Given the description of an element on the screen output the (x, y) to click on. 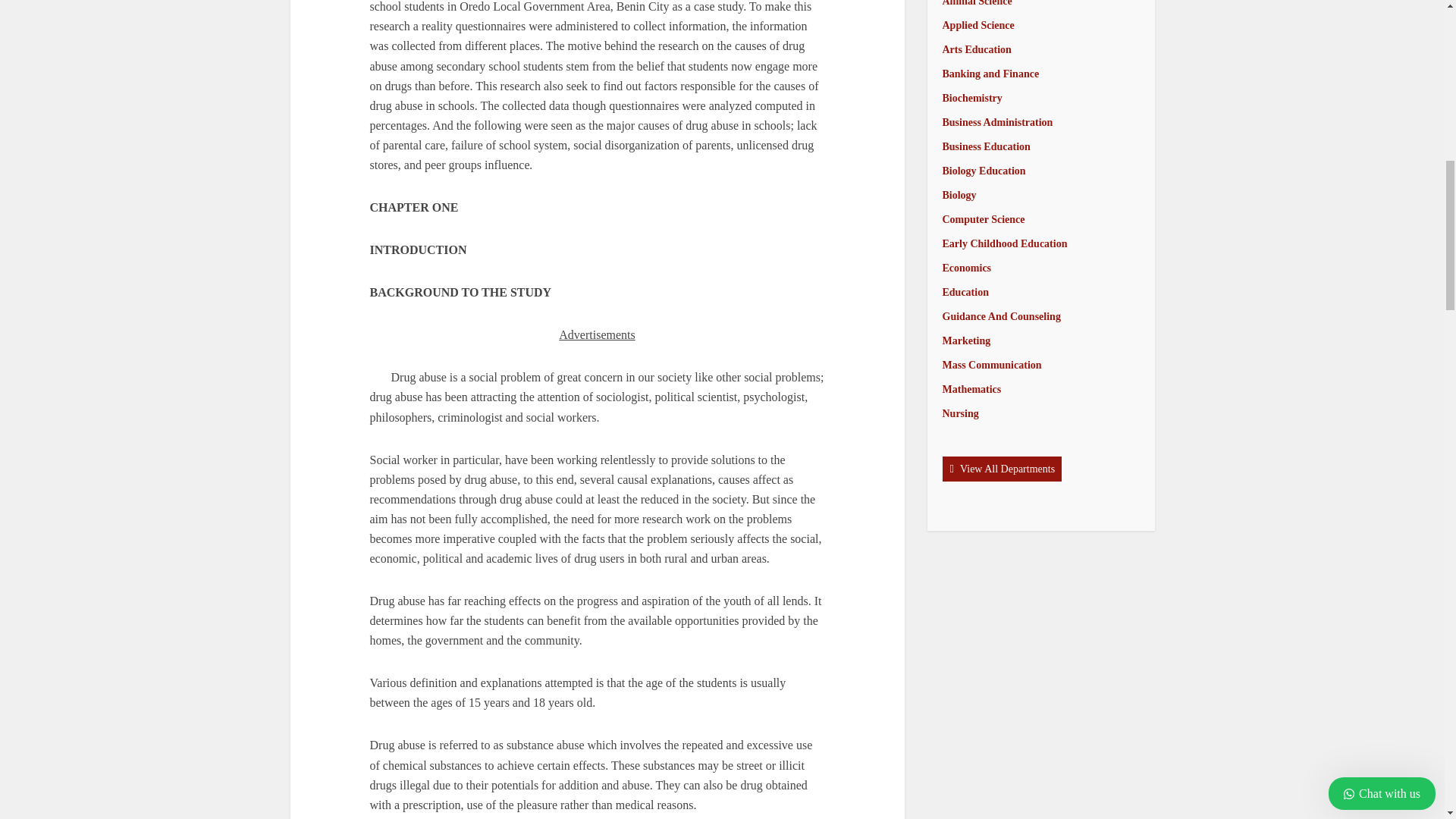
Animal Science (976, 3)
Banking and Finance (990, 73)
Arts Education (976, 49)
Applied Science (977, 25)
